Given the description of an element on the screen output the (x, y) to click on. 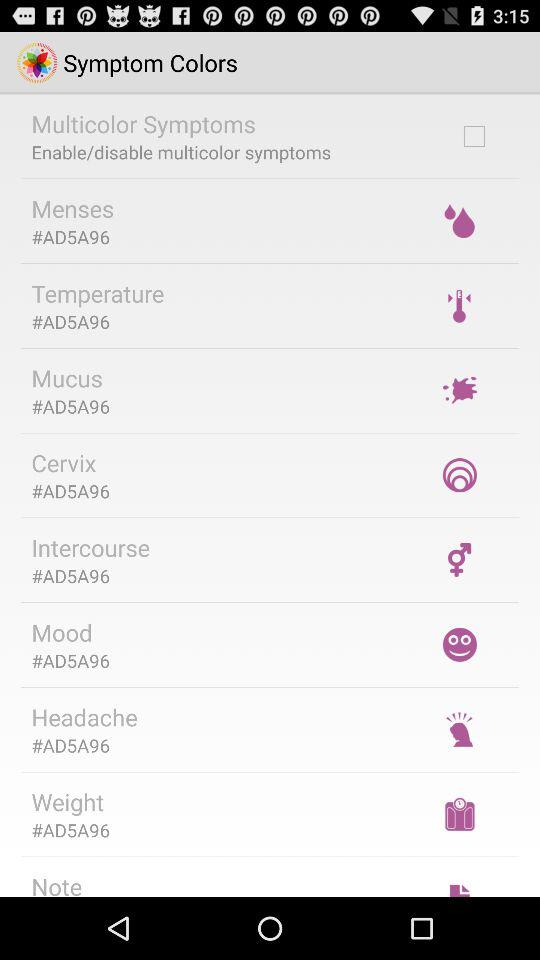
tap item below the #ad5a96 app (84, 717)
